Given the description of an element on the screen output the (x, y) to click on. 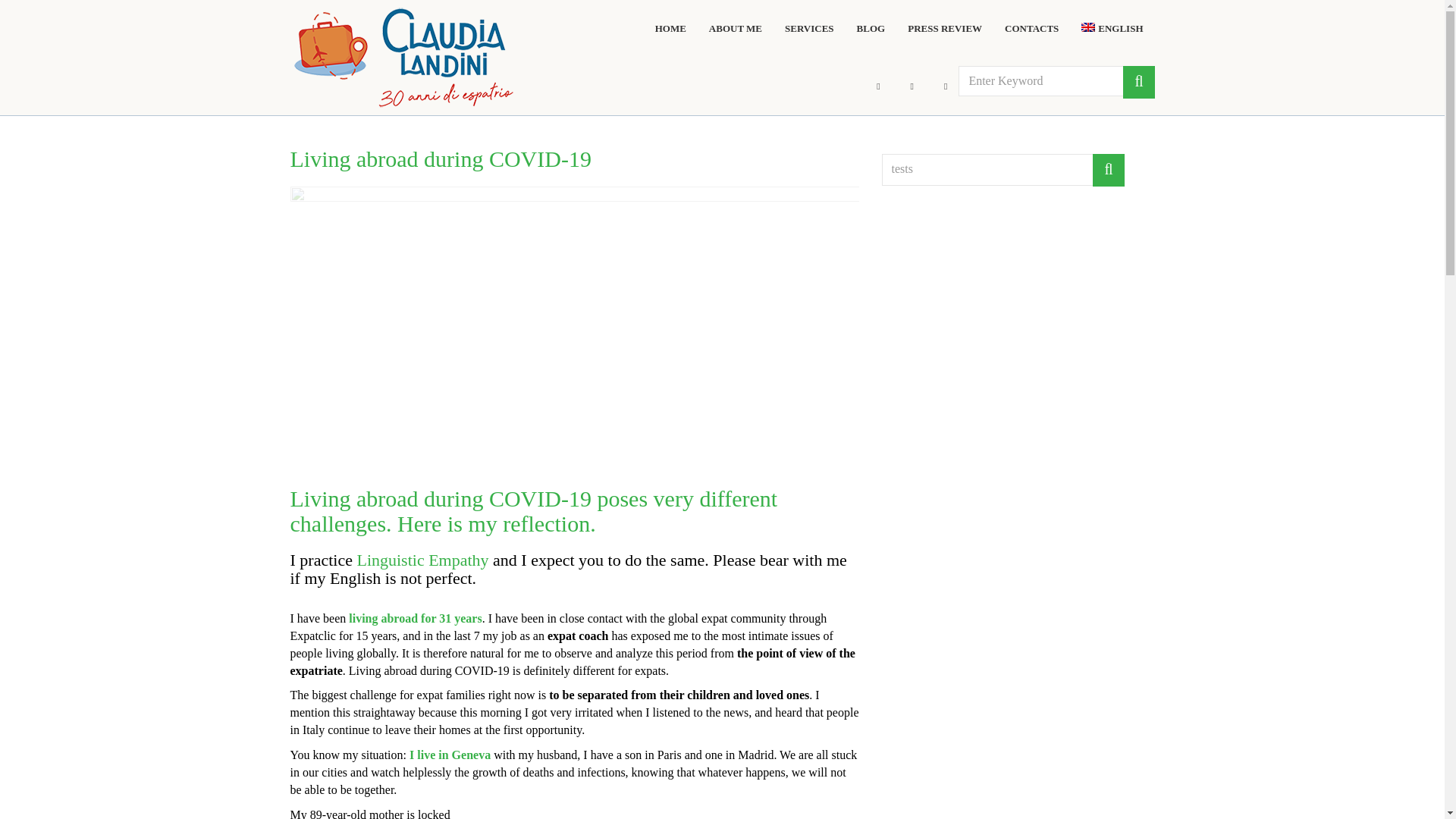
living abroad for 31 years (415, 617)
I live in Geneva (449, 754)
ENGLISH (1111, 29)
English (1111, 29)
PRESS REVIEW (944, 29)
CONTACTS (1031, 29)
Linguistic Empathy (421, 559)
ABOUT ME (735, 29)
